Given the description of an element on the screen output the (x, y) to click on. 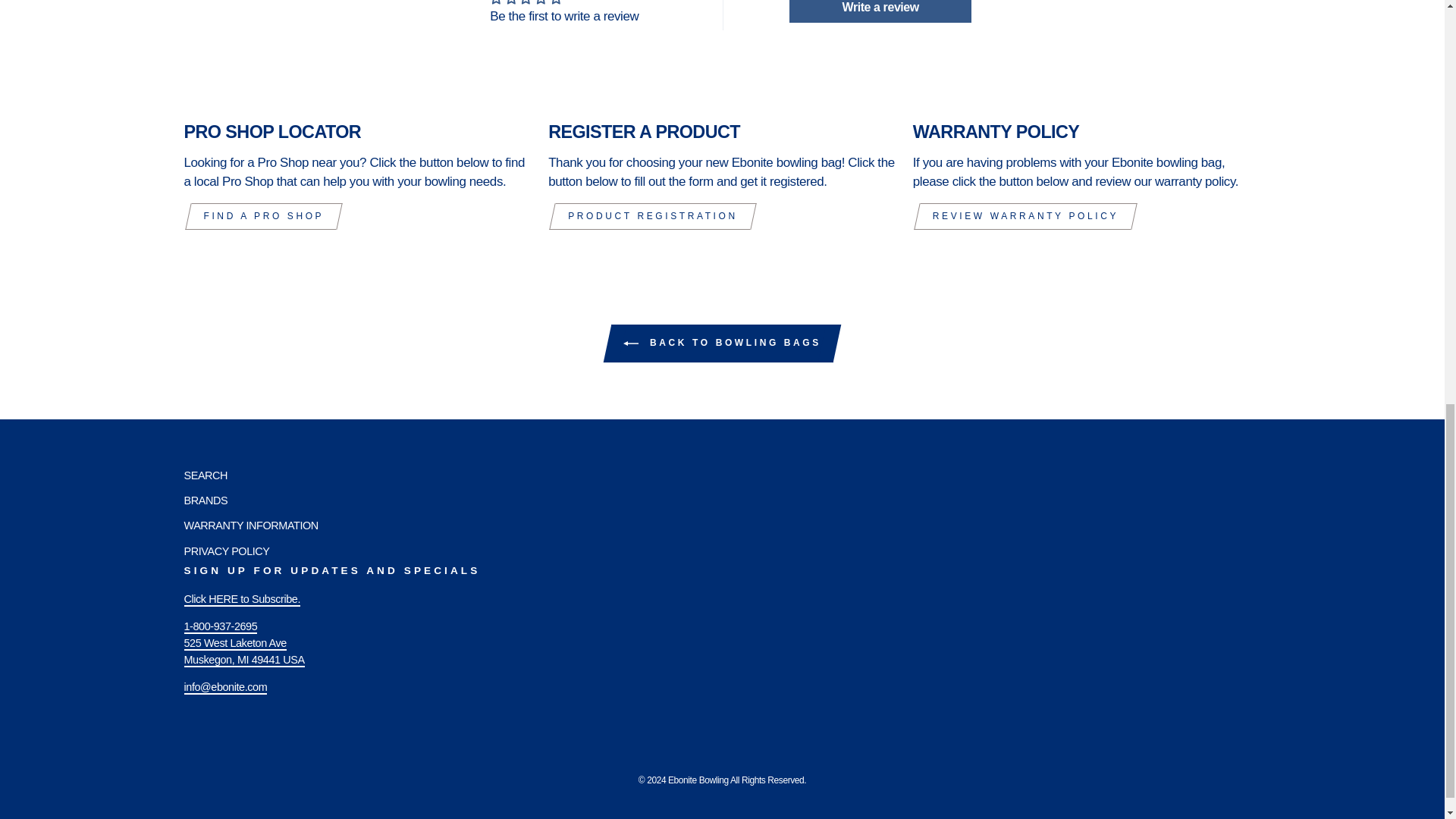
ICON-LEFT-ARROW (631, 343)
tel:1-800-937-2695 (220, 634)
